Given the description of an element on the screen output the (x, y) to click on. 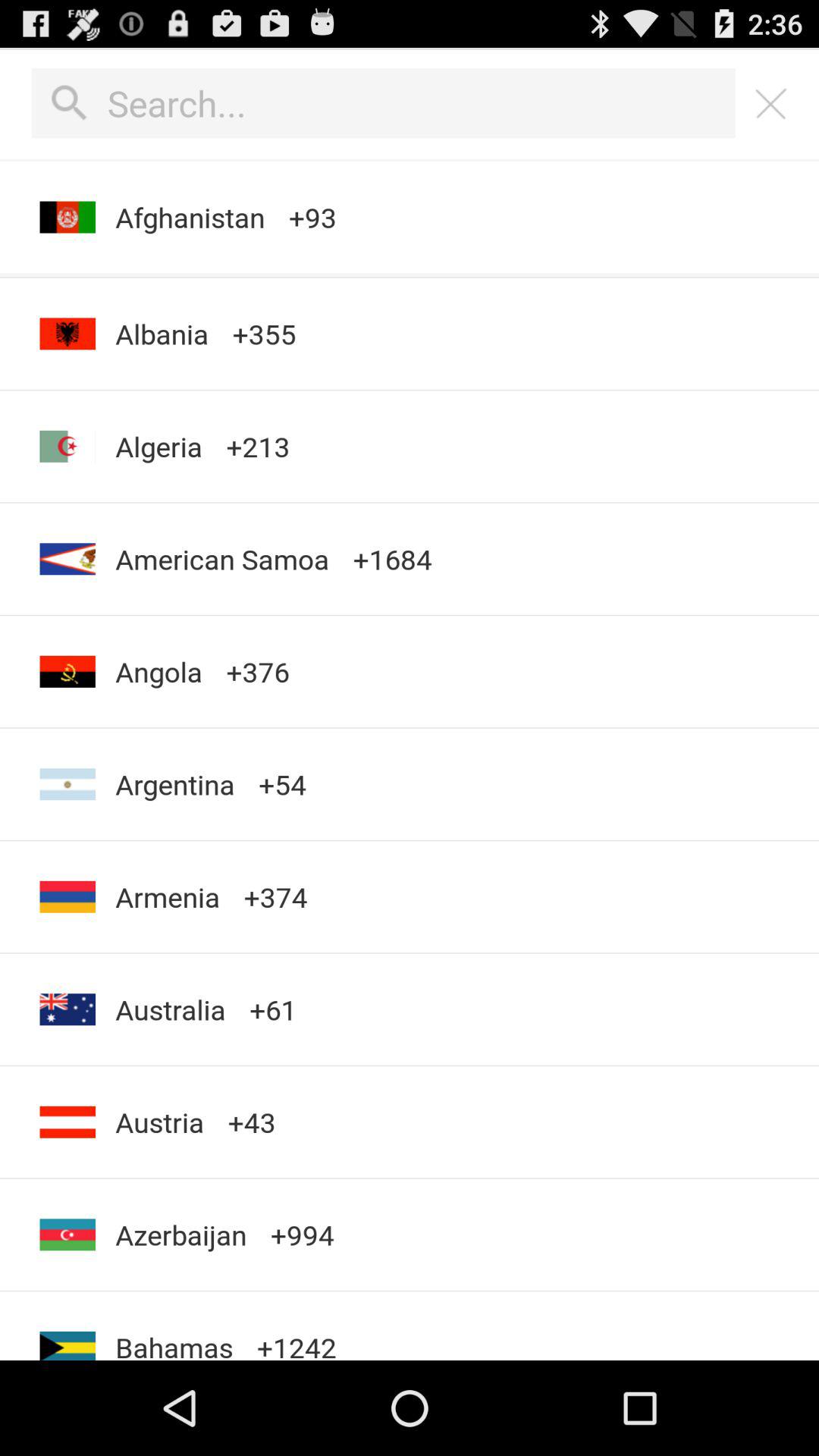
turn on item next to +213 app (161, 333)
